Given the description of an element on the screen output the (x, y) to click on. 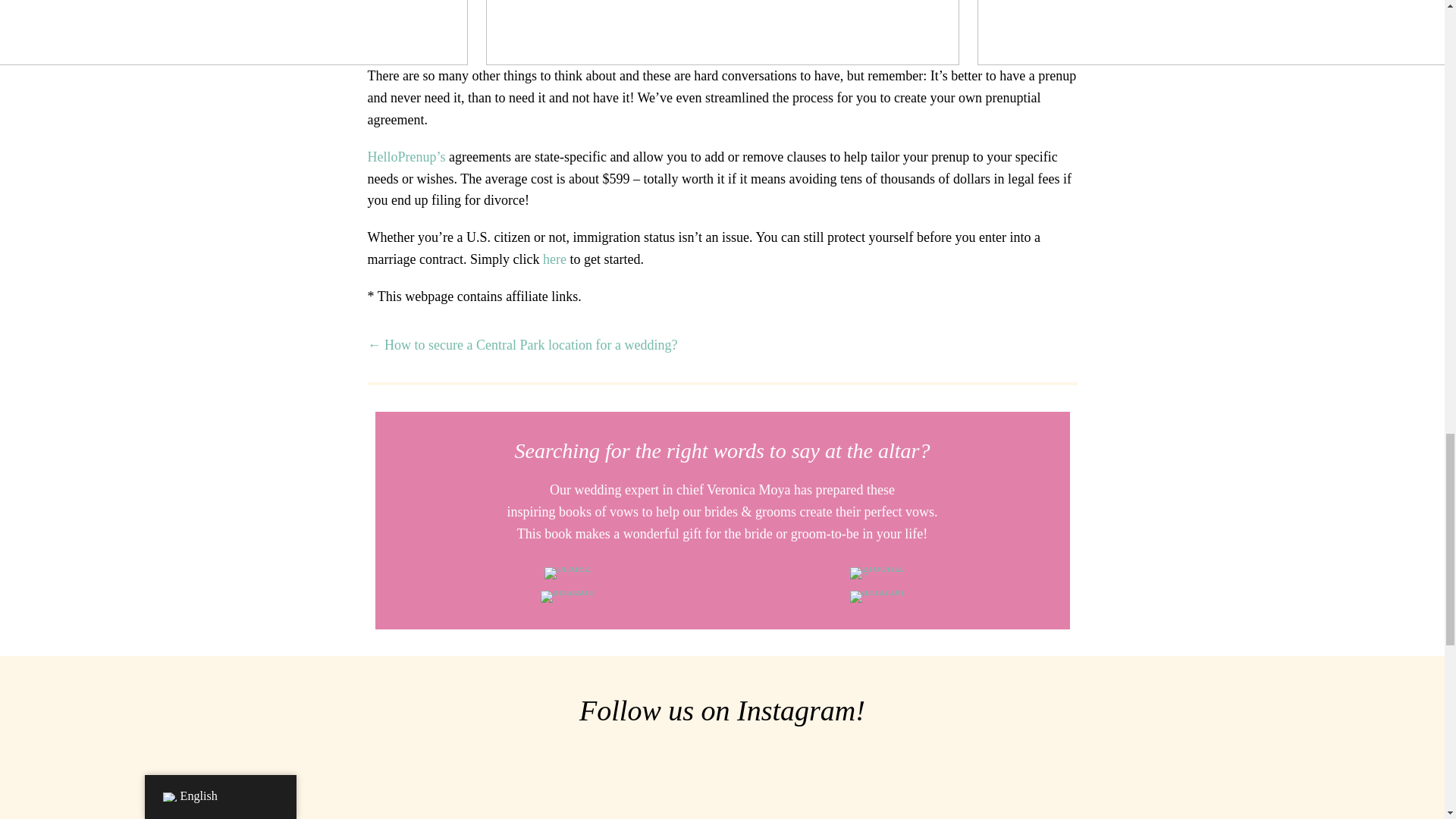
amazon (877, 596)
Follow us on Instagram! (721, 710)
here (554, 258)
amazon (567, 596)
groom2 (876, 573)
Follow us on Instagram! (721, 710)
bride2 (567, 573)
